Given the description of an element on the screen output the (x, y) to click on. 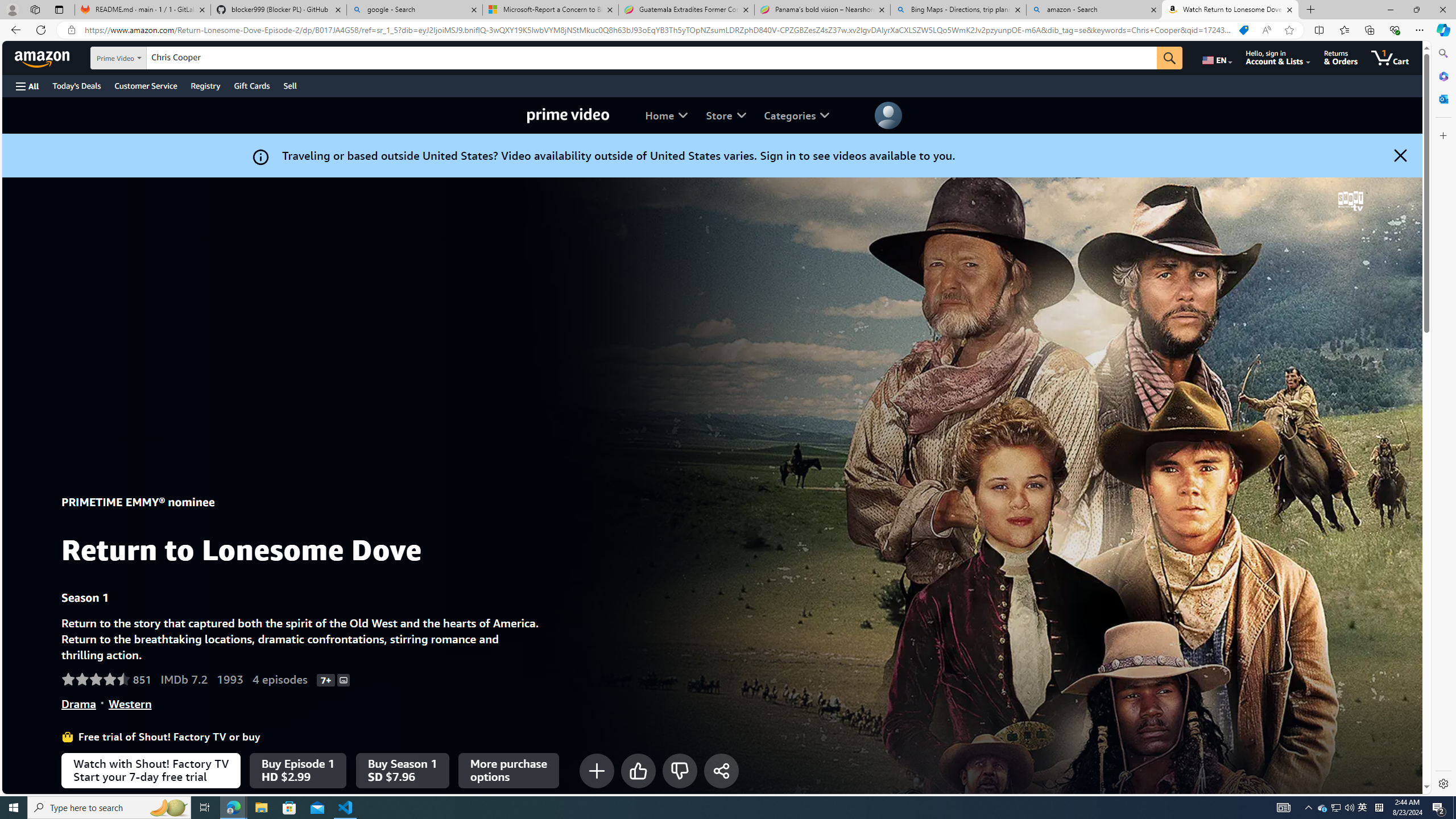
Dismiss button (1400, 155)
Rated 4.6 out of 5 stars by 851 Amazon customers. (106, 679)
Drama (78, 703)
Amazon (43, 57)
Search Amazon (652, 57)
Store (726, 115)
Go (1169, 57)
